Given the description of an element on the screen output the (x, y) to click on. 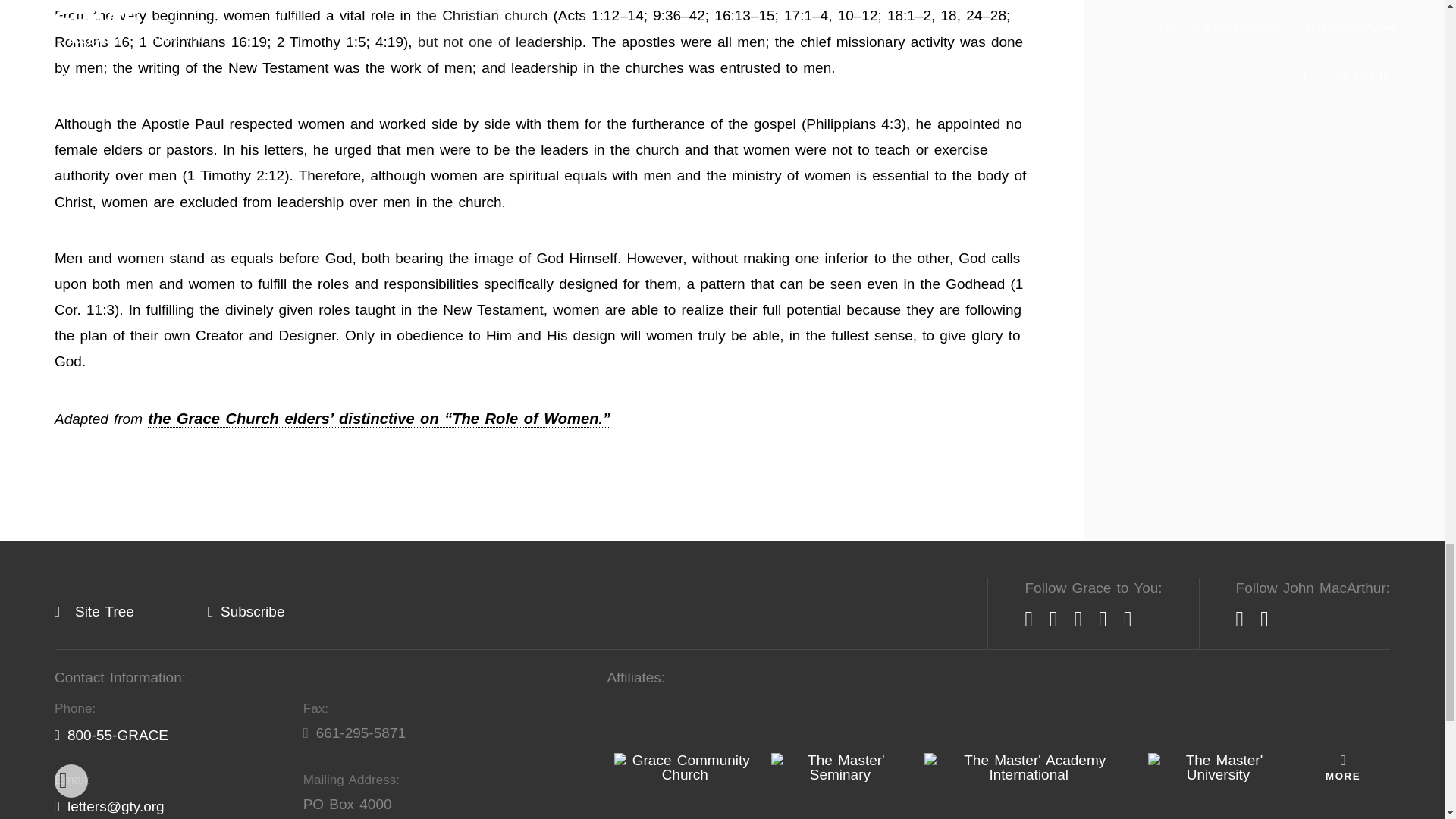
The Master' University (1218, 767)
The Master' Academy International (1028, 767)
Grace Community Church (684, 767)
The Master' Seminary (839, 767)
More Affiliates (1341, 767)
